Given the description of an element on the screen output the (x, y) to click on. 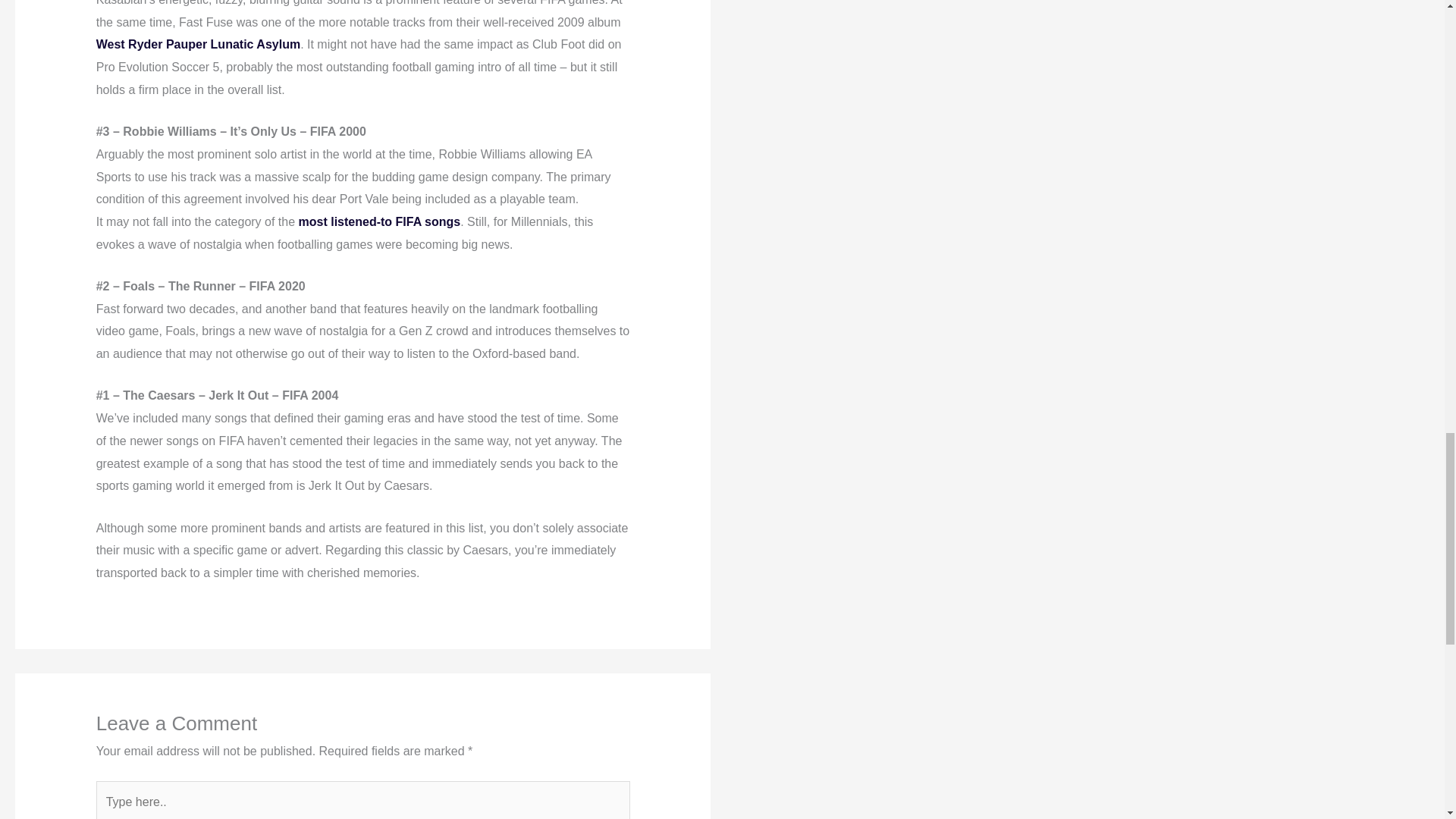
West Ryder Pauper Lunatic Asylum (197, 43)
most listened-to FIFA songs (379, 221)
